Given the description of an element on the screen output the (x, y) to click on. 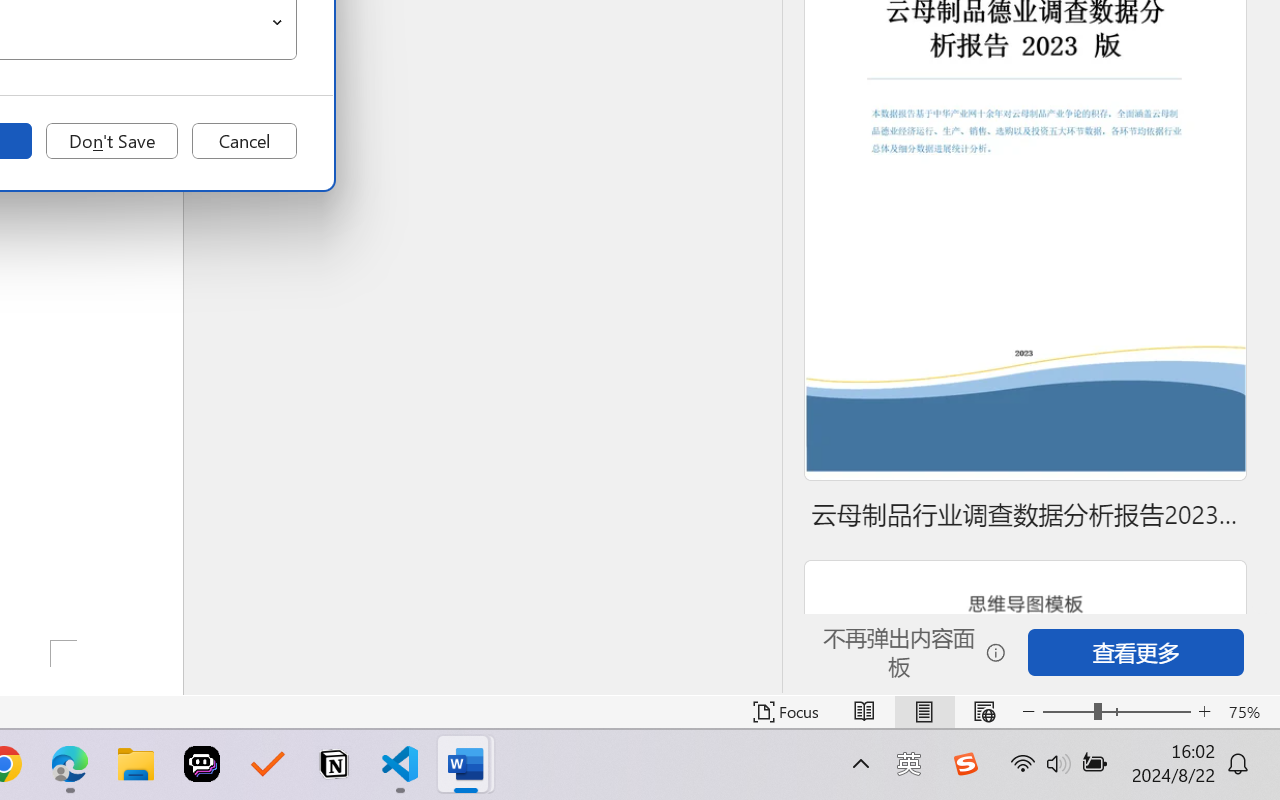
Zoom In (1204, 712)
Web Layout (984, 712)
Cancel (244, 141)
Focus  (786, 712)
Read Mode (864, 712)
Zoom Out (1067, 712)
